Given the description of an element on the screen output the (x, y) to click on. 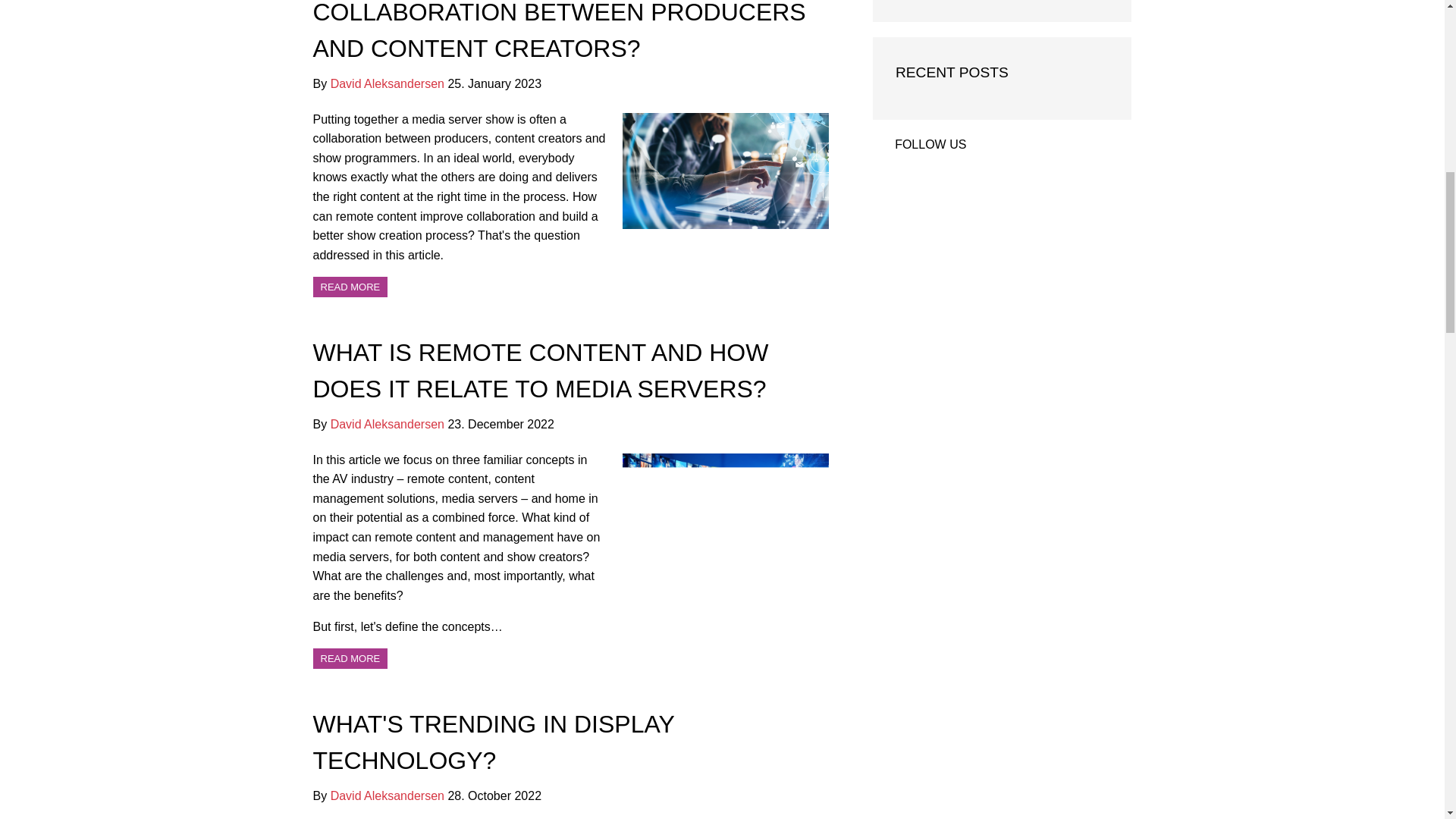
WHAT'S TRENDING IN DISPLAY TECHNOLOGY? (493, 741)
Follow us on Facebook (1044, 146)
Follow us on Twitter (995, 146)
David Aleksandersen (387, 83)
READ MORE (350, 286)
Follow us on Linkedin (1019, 146)
David Aleksandersen (387, 423)
David Aleksandersen (387, 795)
READ MORE (350, 658)
